Given the description of an element on the screen output the (x, y) to click on. 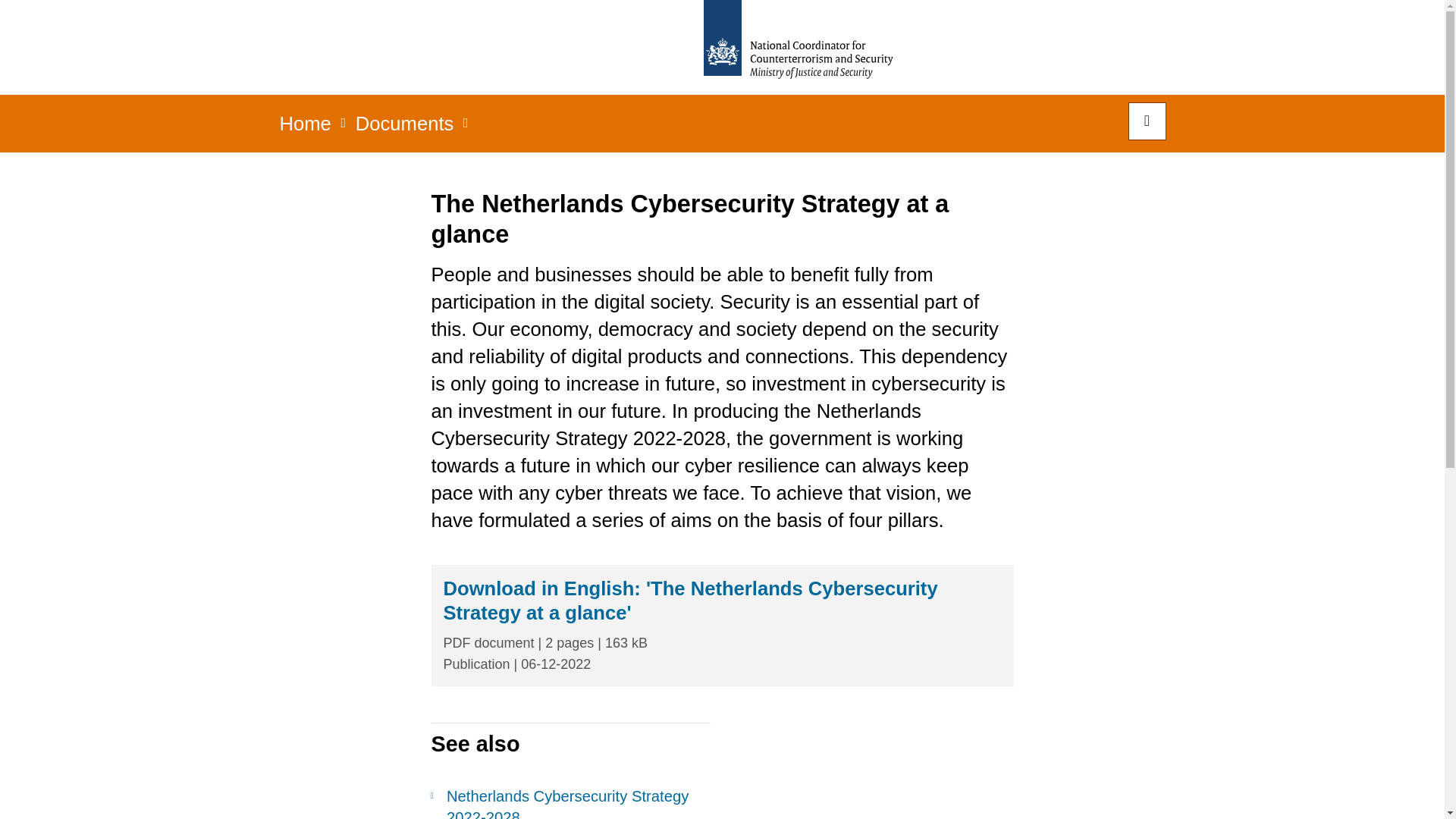
Open search box (1146, 121)
Home (304, 128)
Documents (404, 128)
Netherlands Cybersecurity Strategy 2022-2028 (570, 802)
Open search box (1146, 121)
